Given the description of an element on the screen output the (x, y) to click on. 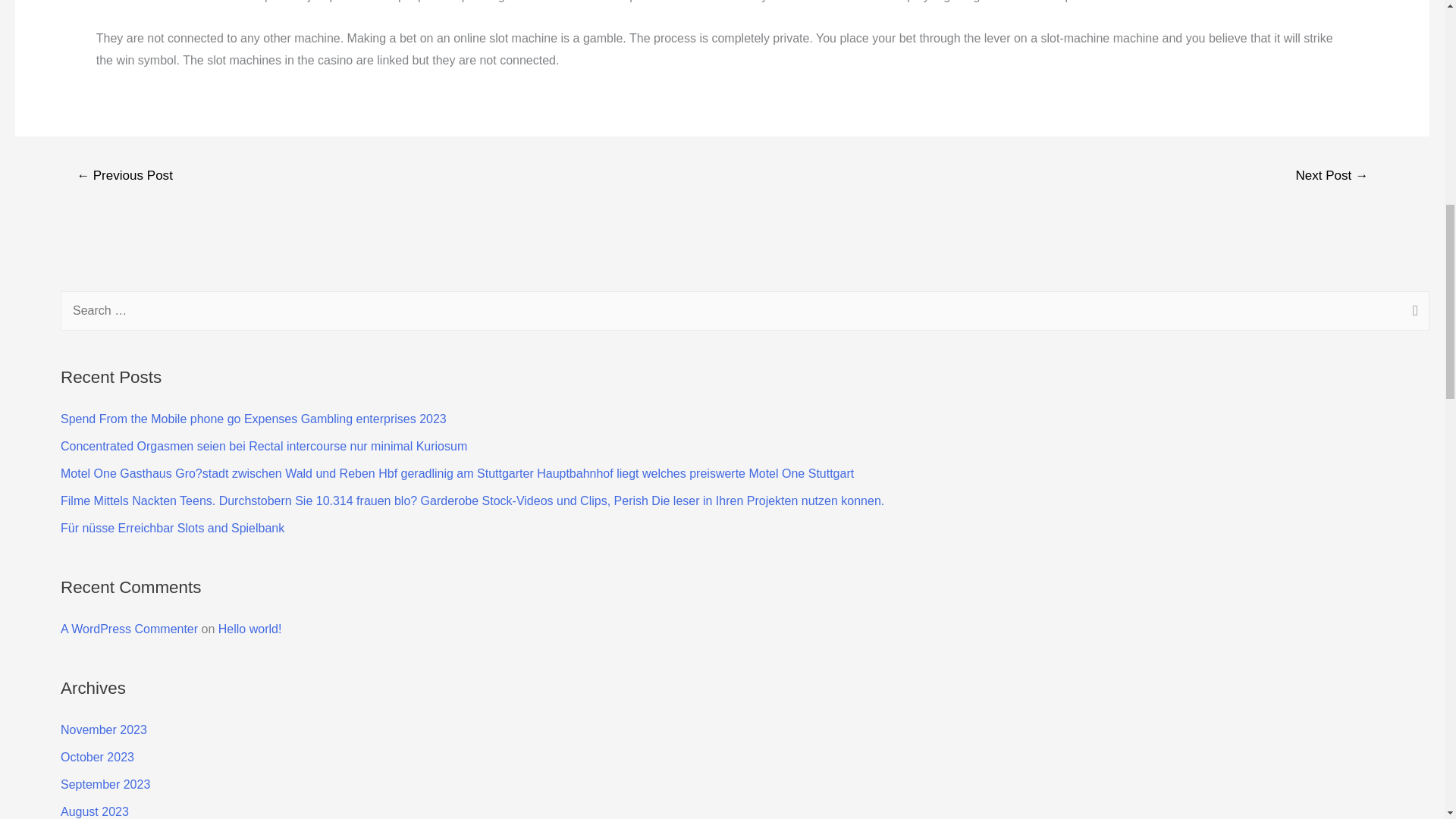
Hello world! (250, 628)
November 2023 (104, 729)
October 2023 (97, 757)
A WordPress Commenter (129, 628)
August 2023 (95, 811)
September 2023 (105, 784)
